Given the description of an element on the screen output the (x, y) to click on. 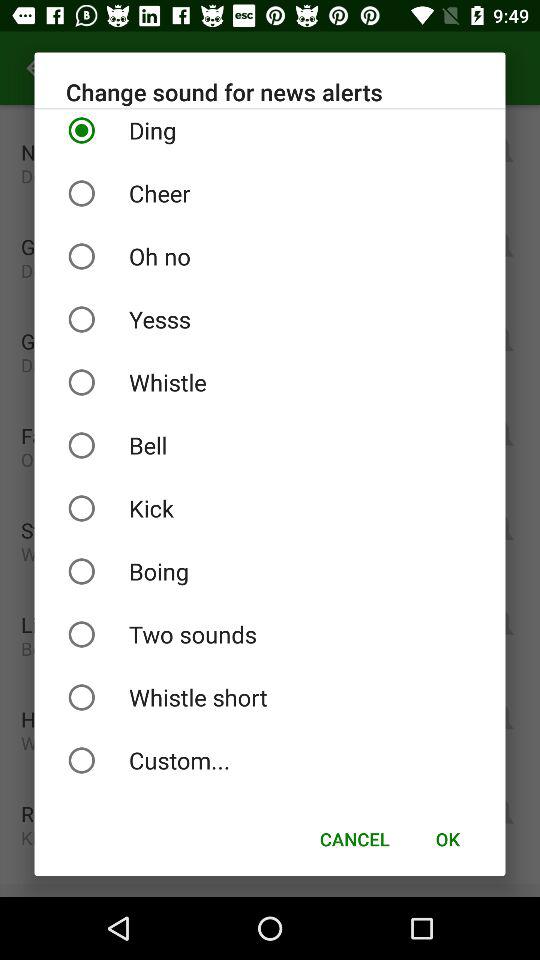
click the icon at the bottom right corner (447, 838)
